Given the description of an element on the screen output the (x, y) to click on. 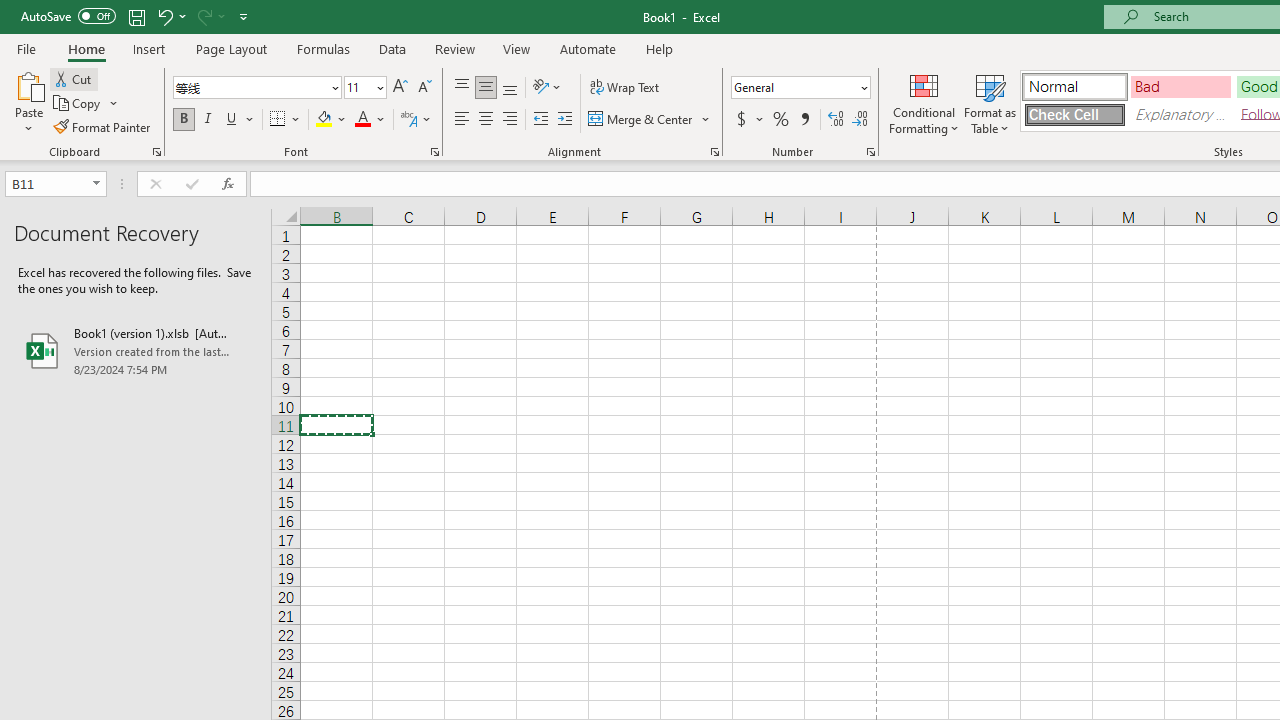
Format Cell Alignment (714, 151)
Increase Font Size (399, 87)
Format Cell Font (434, 151)
